Given the description of an element on the screen output the (x, y) to click on. 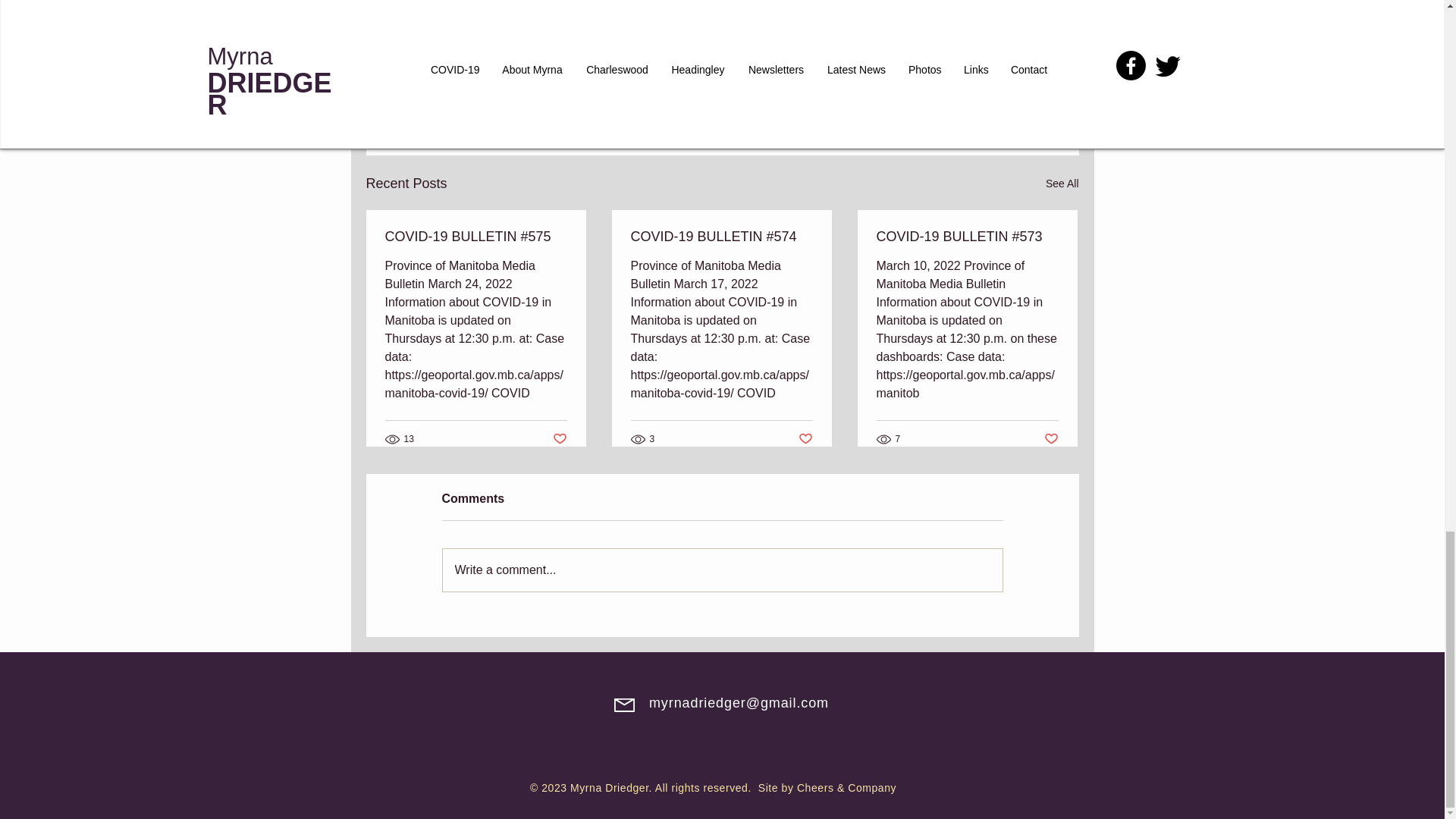
Province of Manitoba, COVID-19 (925, 55)
Post not marked as liked (558, 439)
Post not marked as liked (995, 100)
Post not marked as liked (804, 439)
See All (1061, 183)
Post not marked as liked (1050, 439)
